Given the description of an element on the screen output the (x, y) to click on. 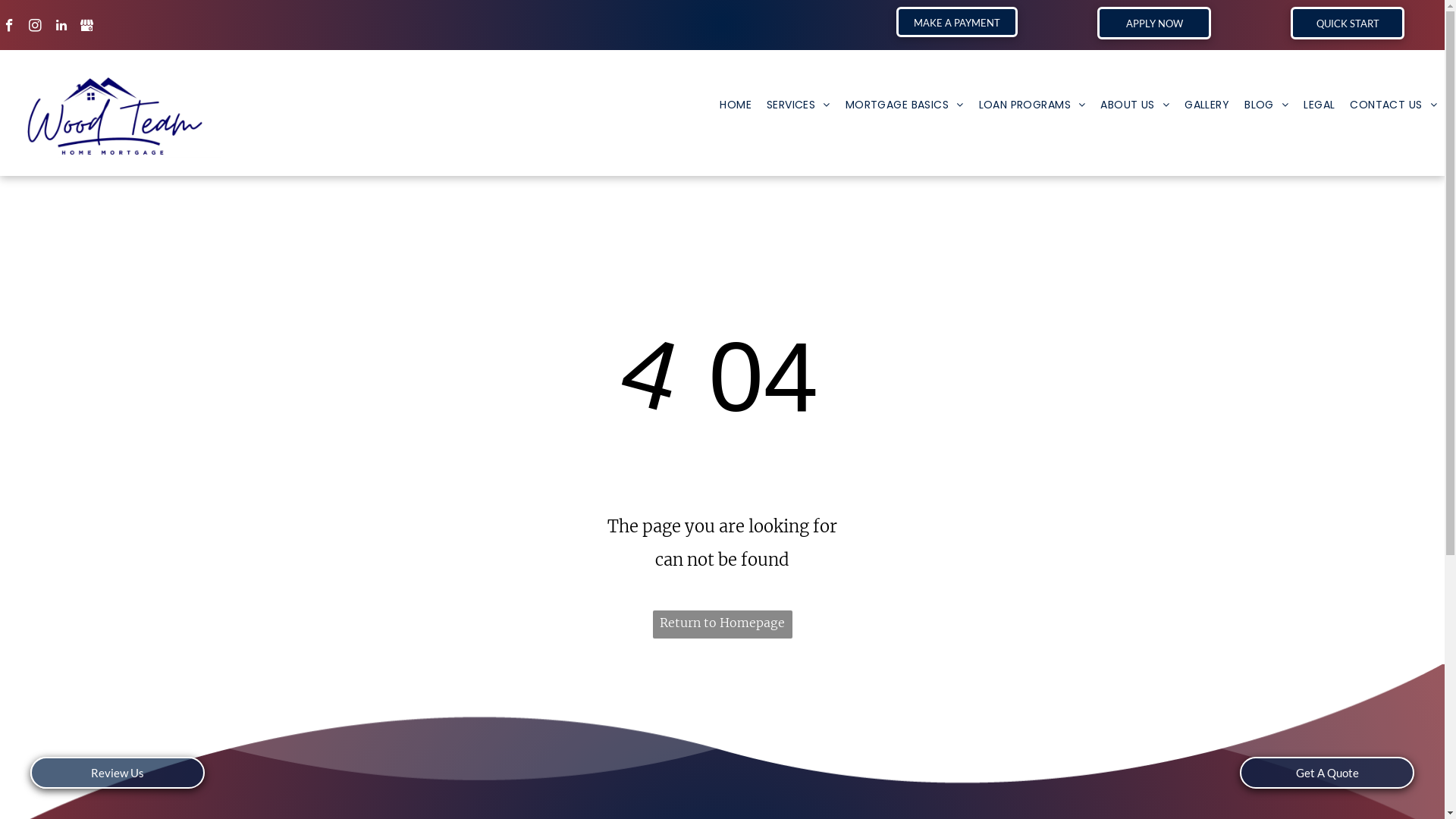
LOAN PROGRAMS Element type: text (1031, 104)
Review Us Element type: text (117, 772)
HOME Element type: text (735, 104)
QUICK START Element type: text (1347, 22)
SERVICES Element type: text (798, 104)
MORTGAGE BASICS Element type: text (904, 104)
CONTACT US Element type: text (1393, 104)
APPLY NOW Element type: text (1154, 22)
LEGAL Element type: text (1318, 104)
BLOG Element type: text (1265, 104)
GALLERY Element type: text (1206, 104)
MAKE A PAYMENT Element type: text (956, 21)
Get A Quote Element type: text (1326, 772)
Return to Homepage Element type: text (721, 624)
ABOUT US Element type: text (1134, 104)
